Given the description of an element on the screen output the (x, y) to click on. 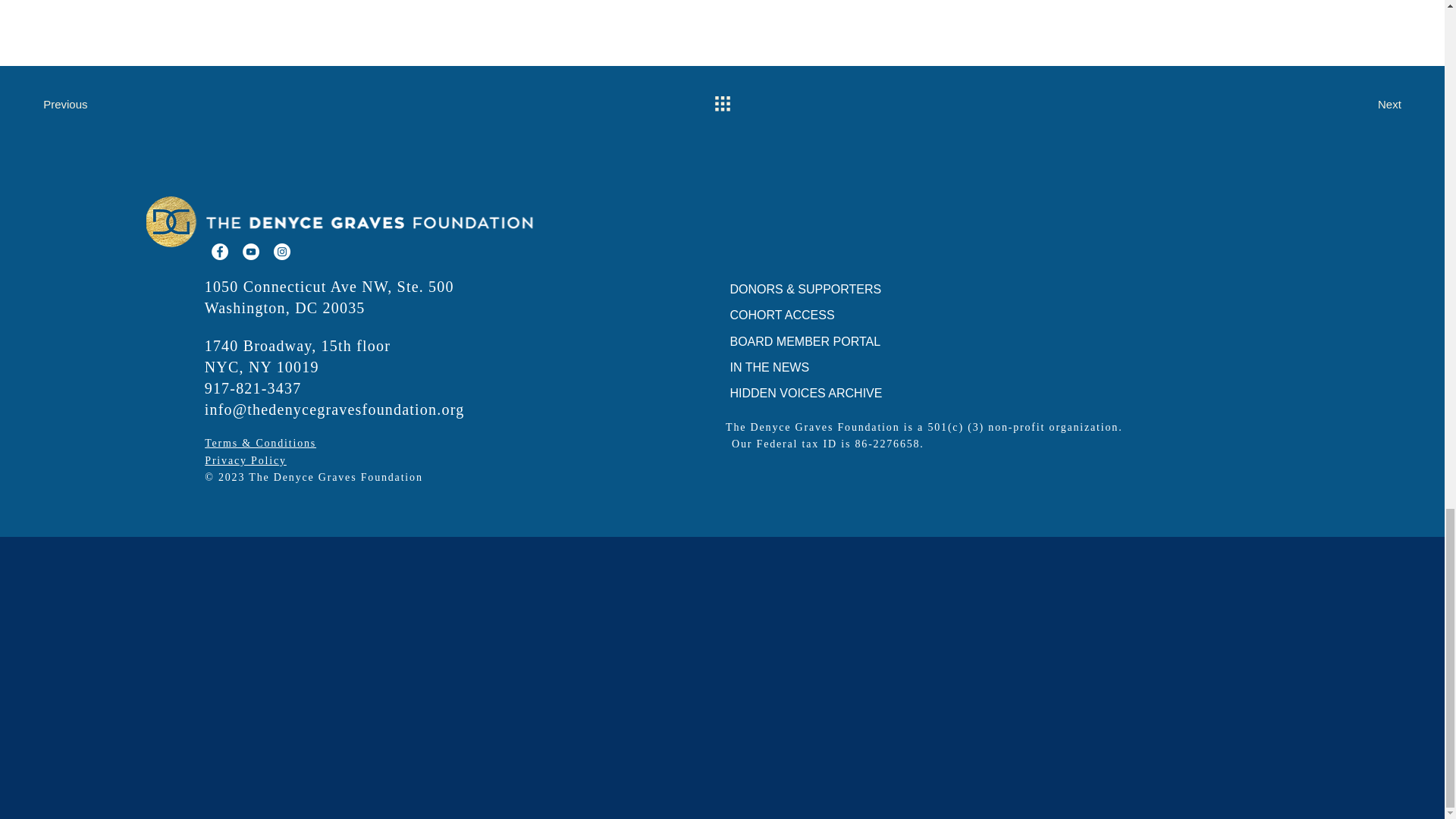
Previous (73, 103)
HIDDEN VOICES ARCHIVE (820, 393)
Privacy Policy (245, 460)
COHORT ACCESS (820, 315)
BOARD MEMBER PORTAL (820, 341)
Next (1370, 103)
IN THE NEWS (820, 367)
